Given the description of an element on the screen output the (x, y) to click on. 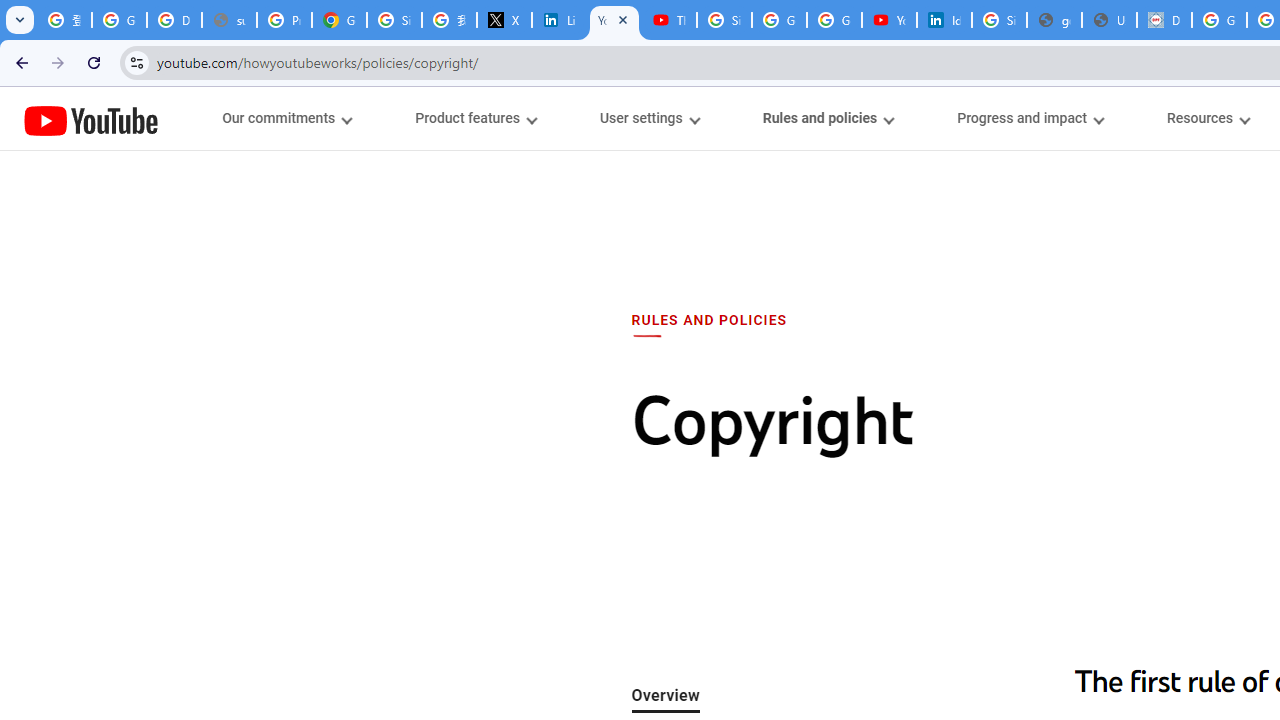
User settings menupopup (648, 118)
YouTube (91, 120)
support.google.com - Network error (229, 20)
Sign in - Google Accounts (724, 20)
